Given the description of an element on the screen output the (x, y) to click on. 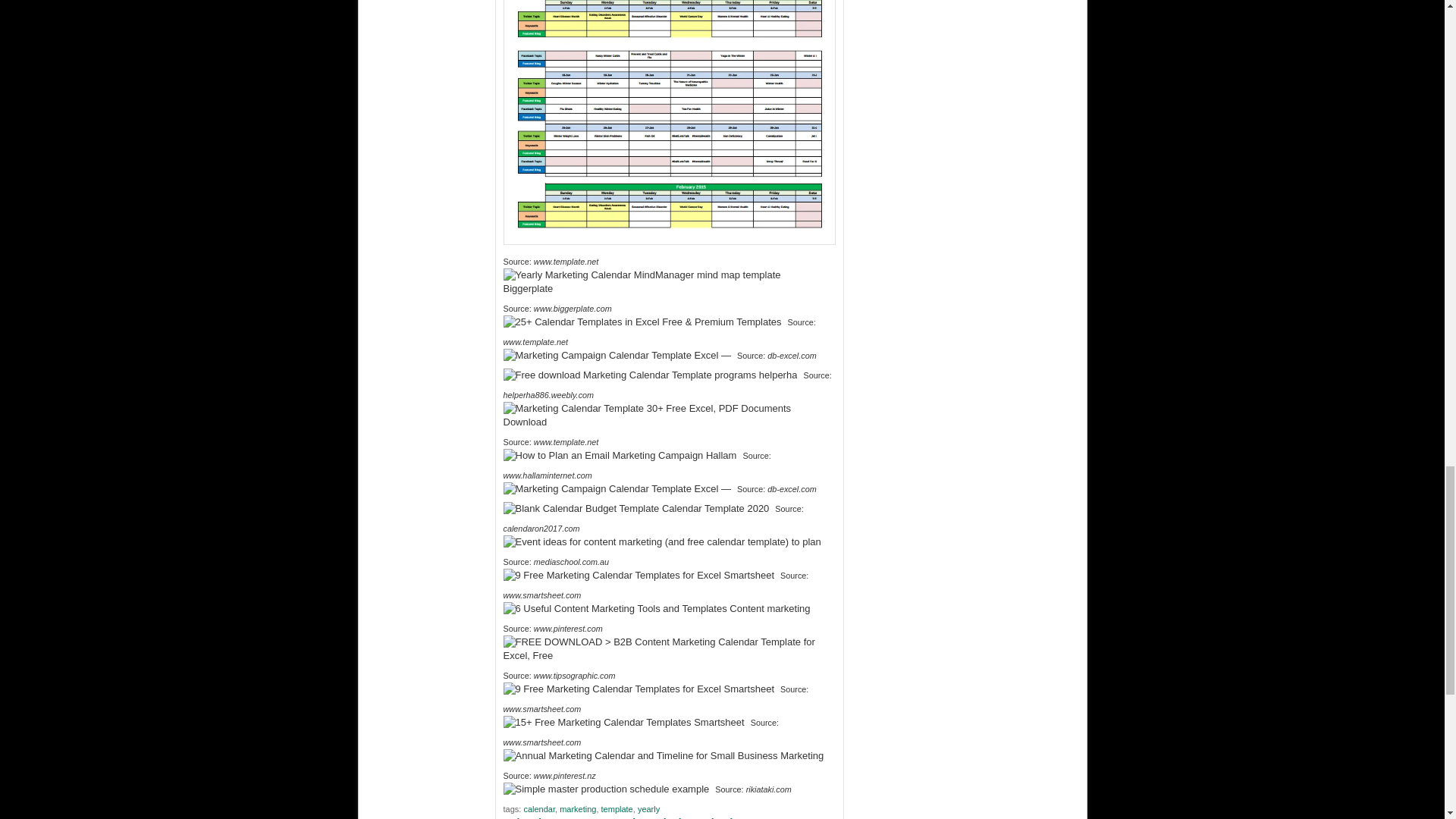
yearly (648, 809)
marketing (577, 809)
template (617, 809)
calendar (538, 809)
